Given the description of an element on the screen output the (x, y) to click on. 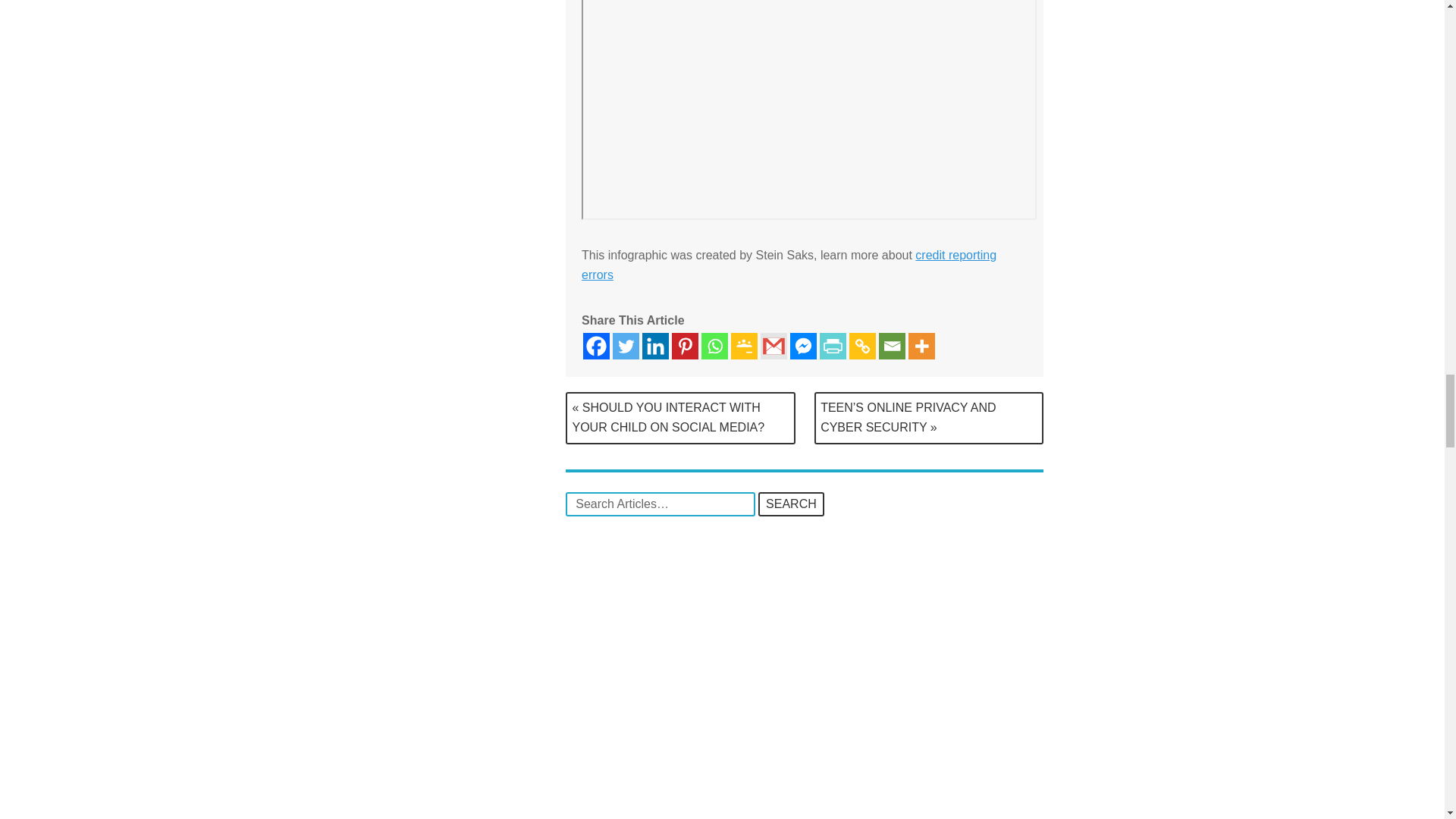
Email (892, 345)
Facebook (596, 345)
Whatsapp (714, 345)
Search (791, 504)
Pinterest (684, 345)
Search (791, 504)
Google Classroom (743, 345)
Copy Link (862, 345)
More (921, 345)
Google Gmail (773, 345)
credit reporting errors (787, 264)
PrintFriendly (832, 345)
Linkedin (655, 345)
Twitter (625, 345)
